Given the description of an element on the screen output the (x, y) to click on. 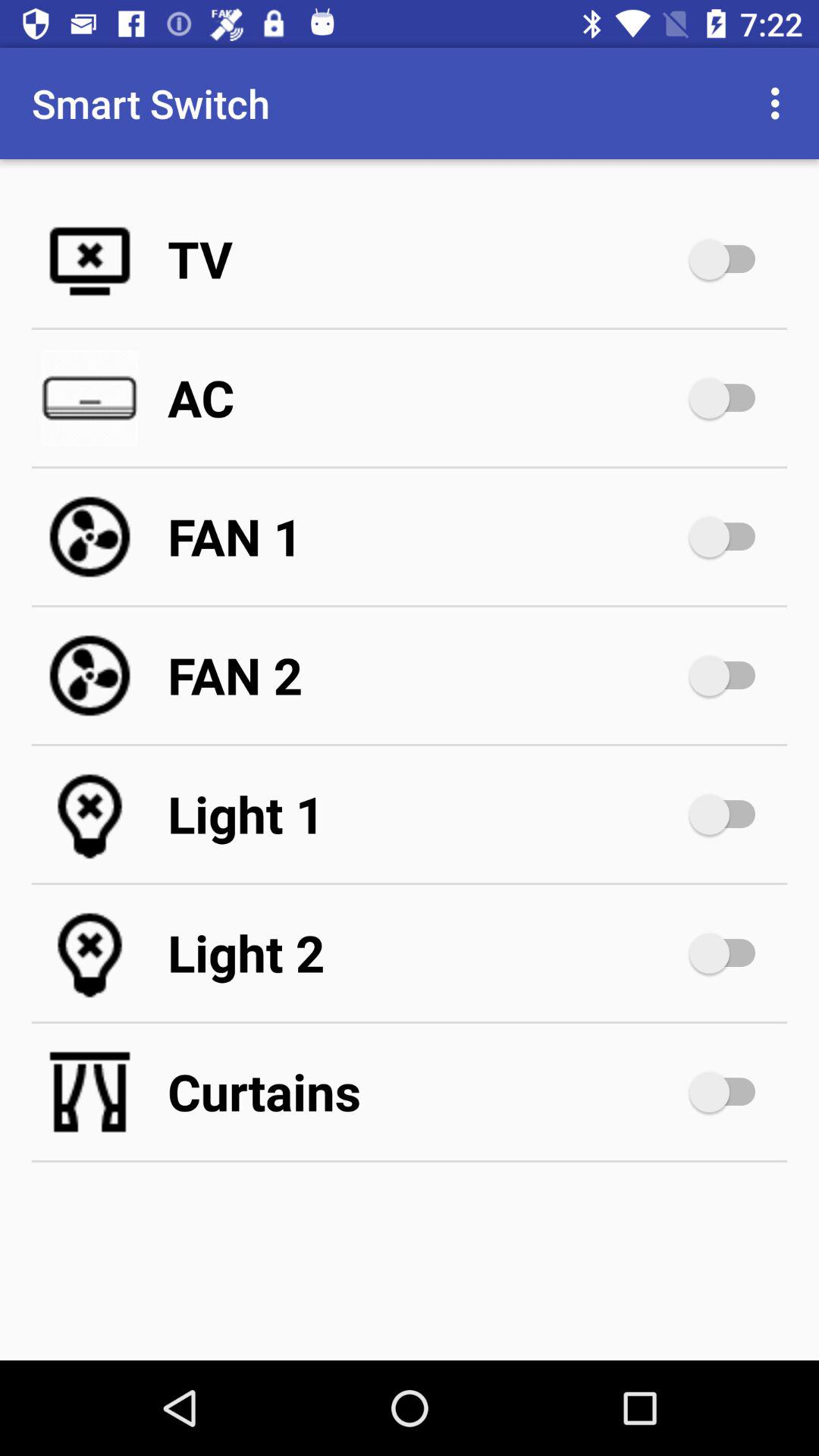
press the icon below the light 1 icon (424, 953)
